Given the description of an element on the screen output the (x, y) to click on. 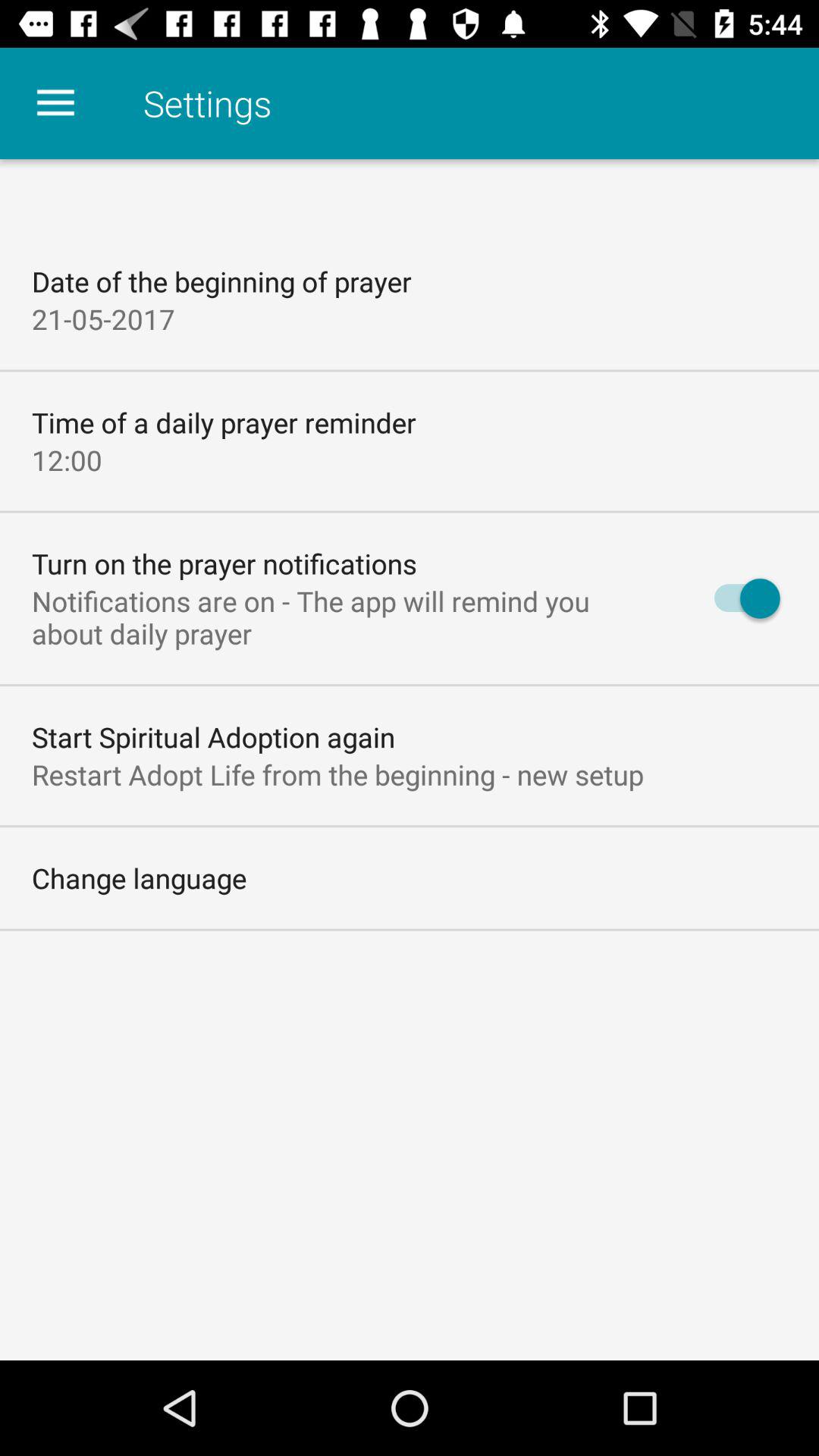
choose time of a (223, 422)
